Given the description of an element on the screen output the (x, y) to click on. 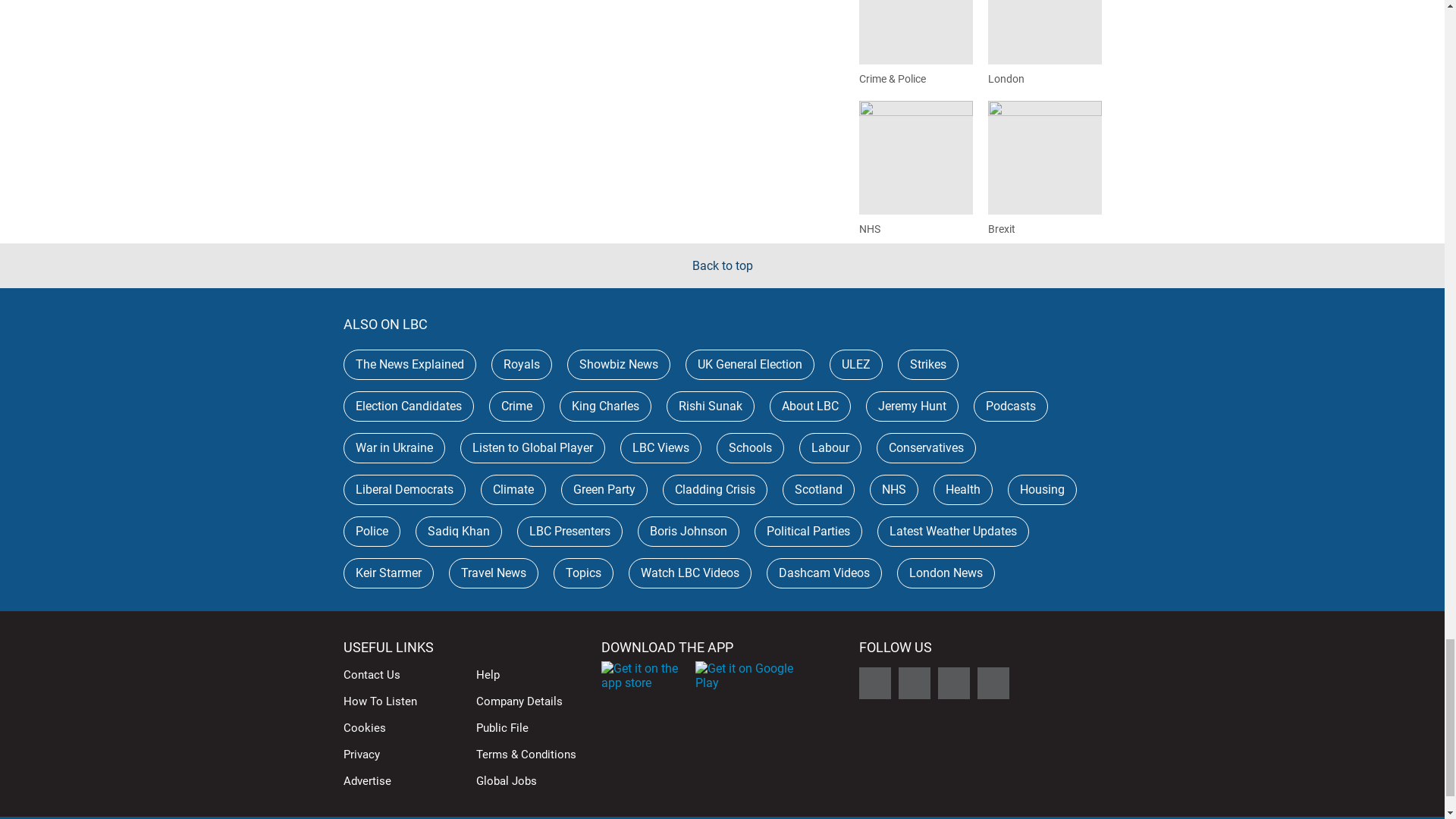
Follow LBC on Youtube (992, 683)
Follow LBC on Facebook (914, 683)
Follow LBC on X (874, 683)
Back to top (721, 265)
Follow LBC on Instagram (953, 683)
